Given the description of an element on the screen output the (x, y) to click on. 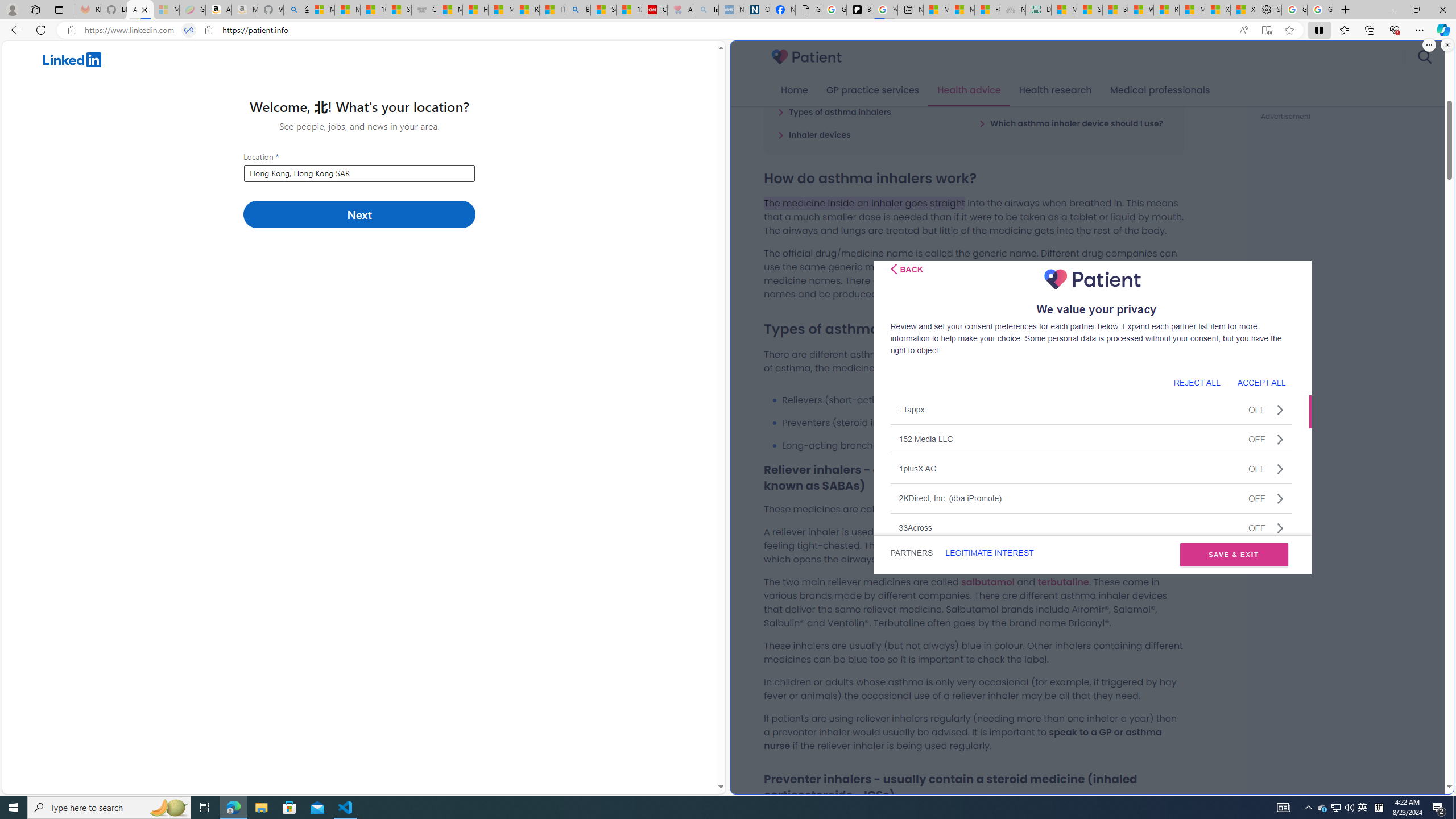
REJECT ALL (1196, 382)
Workspaces (34, 9)
Address and search bar (658, 29)
Add this page to favorites (Ctrl+D) (1289, 29)
Class: css-i5klq5 (892, 268)
PARTNERS (911, 552)
Close tab (144, 9)
Restore (1416, 9)
Personal Profile (12, 9)
Stocks - MSN (1114, 9)
Back (906, 268)
search (1424, 56)
New Tab (1346, 9)
Inhaler devices (813, 134)
